Given the description of an element on the screen output the (x, y) to click on. 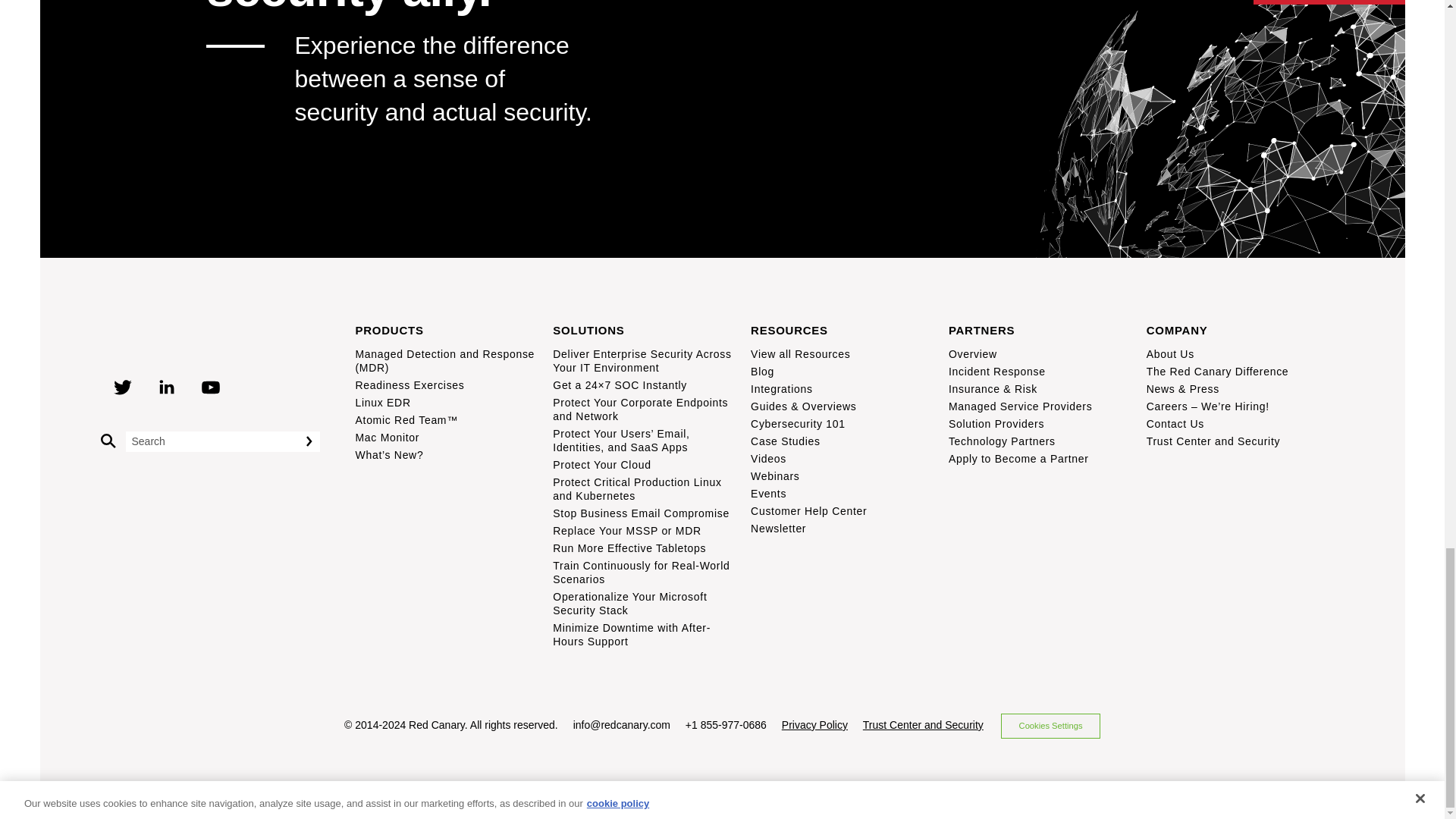
Search (314, 441)
Search (314, 441)
